Given the description of an element on the screen output the (x, y) to click on. 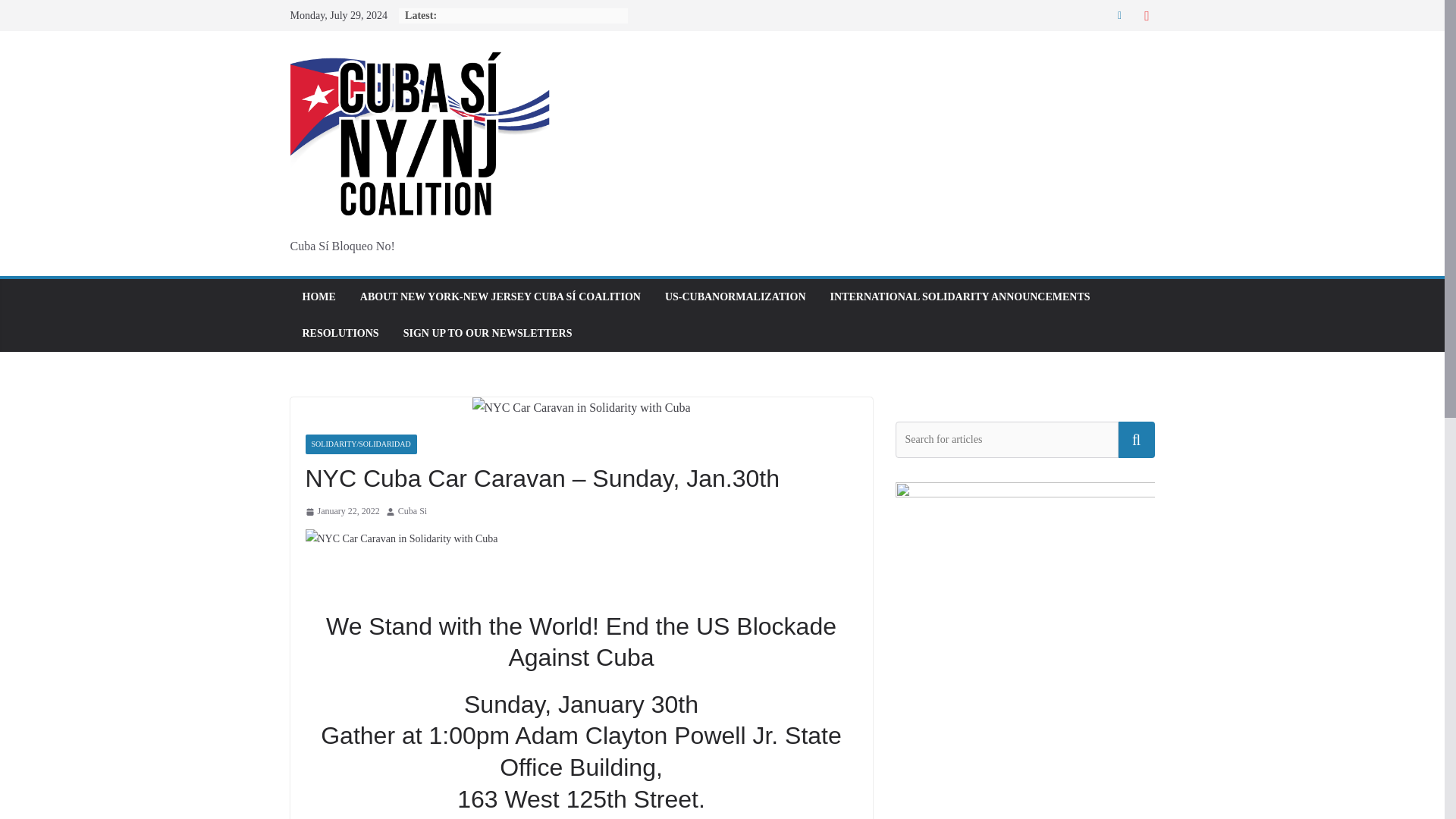
Search (1136, 439)
US-CUBANORMALIZATION (735, 296)
10:09 am (341, 511)
RESOLUTIONS (339, 332)
SIGN UP TO OUR NEWSLETTERS (487, 332)
HOME (317, 296)
Cuba Si (411, 511)
Dare to Dream: Cuba's Latin American Medical School (1024, 735)
INTERNATIONAL SOLIDARITY ANNOUNCEMENTS (959, 296)
Cuba Si (411, 511)
January 22, 2022 (341, 511)
